Given the description of an element on the screen output the (x, y) to click on. 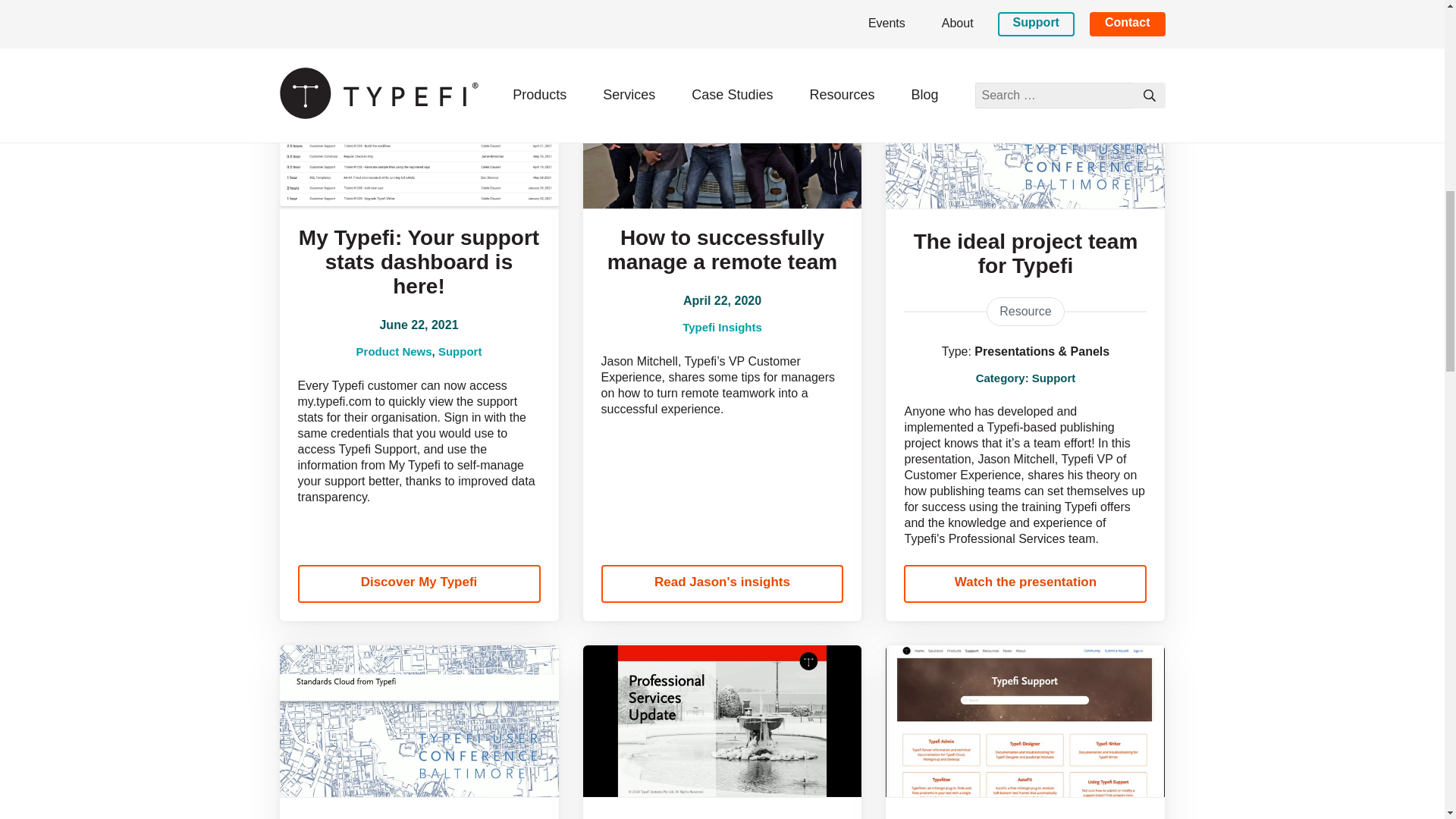
Watch the presentation (419, 7)
Product News (394, 350)
Watch the presentation (721, 7)
Discover My Typefi (419, 583)
My Typefi: Your support stats dashboard is here! (419, 262)
Support (459, 350)
Read Jason's insights (1025, 7)
